Given the description of an element on the screen output the (x, y) to click on. 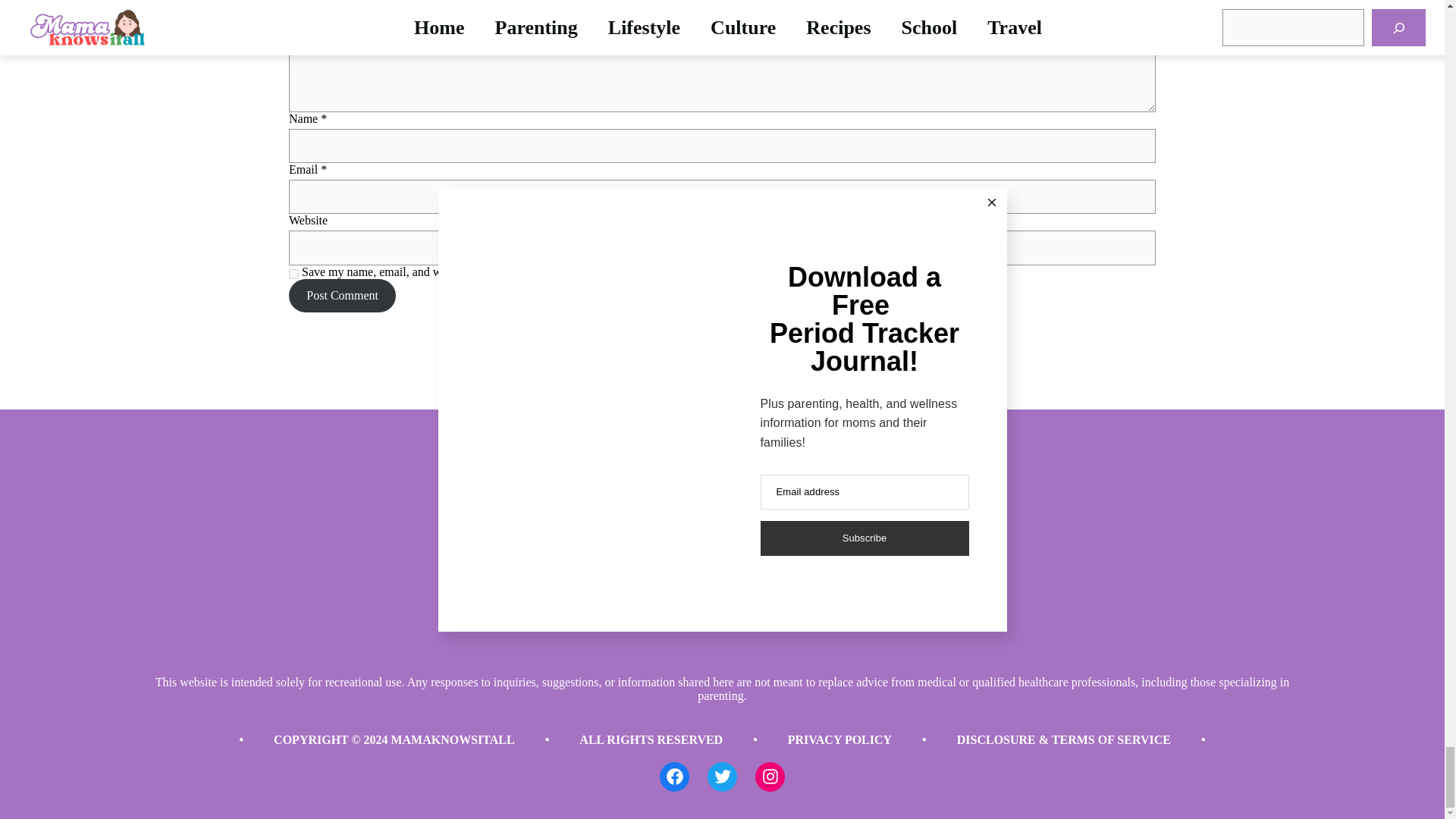
yes (293, 274)
Post Comment (342, 295)
